Given the description of an element on the screen output the (x, y) to click on. 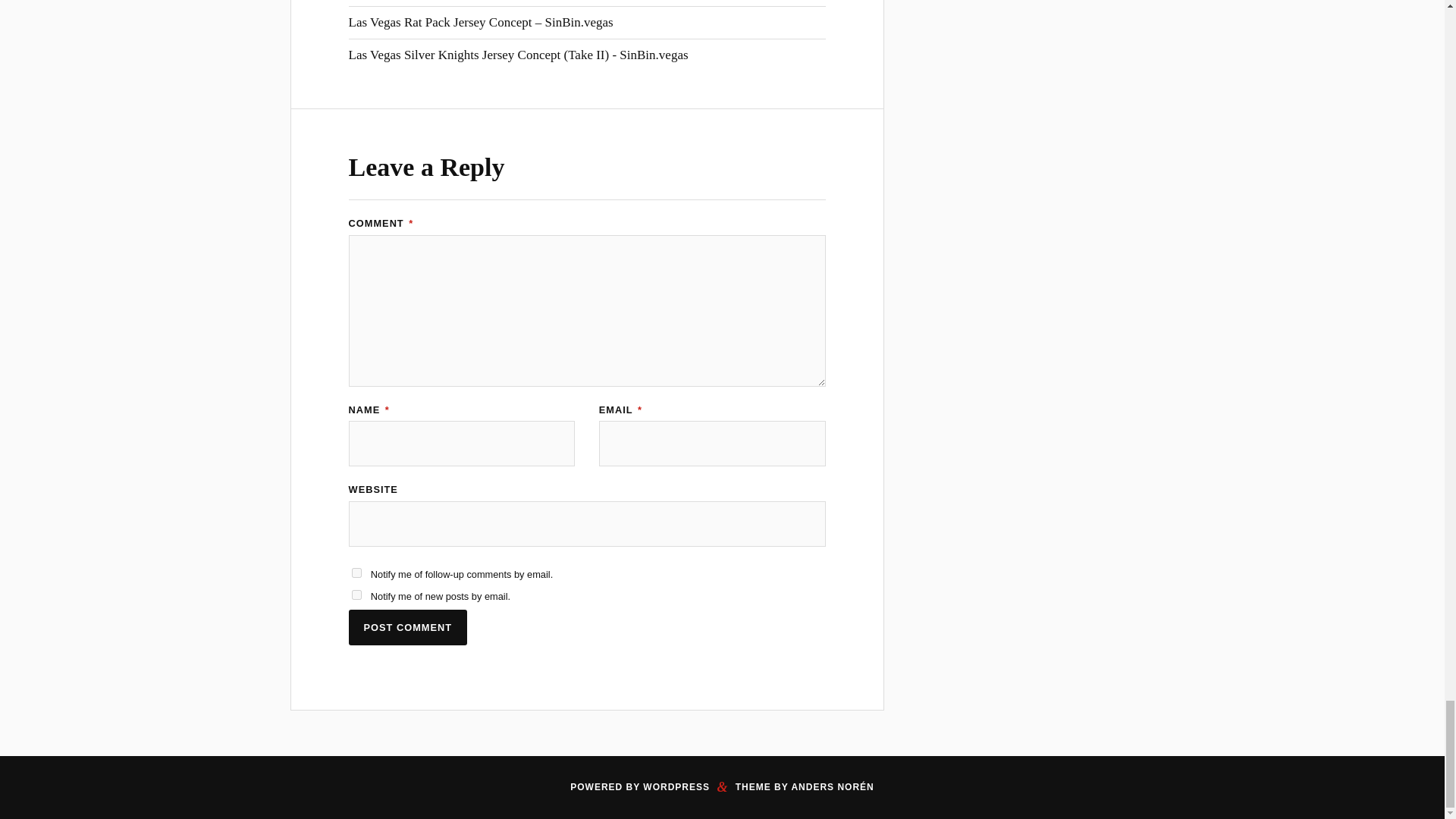
subscribe (356, 573)
Post Comment (408, 627)
subscribe (356, 594)
